Given the description of an element on the screen output the (x, y) to click on. 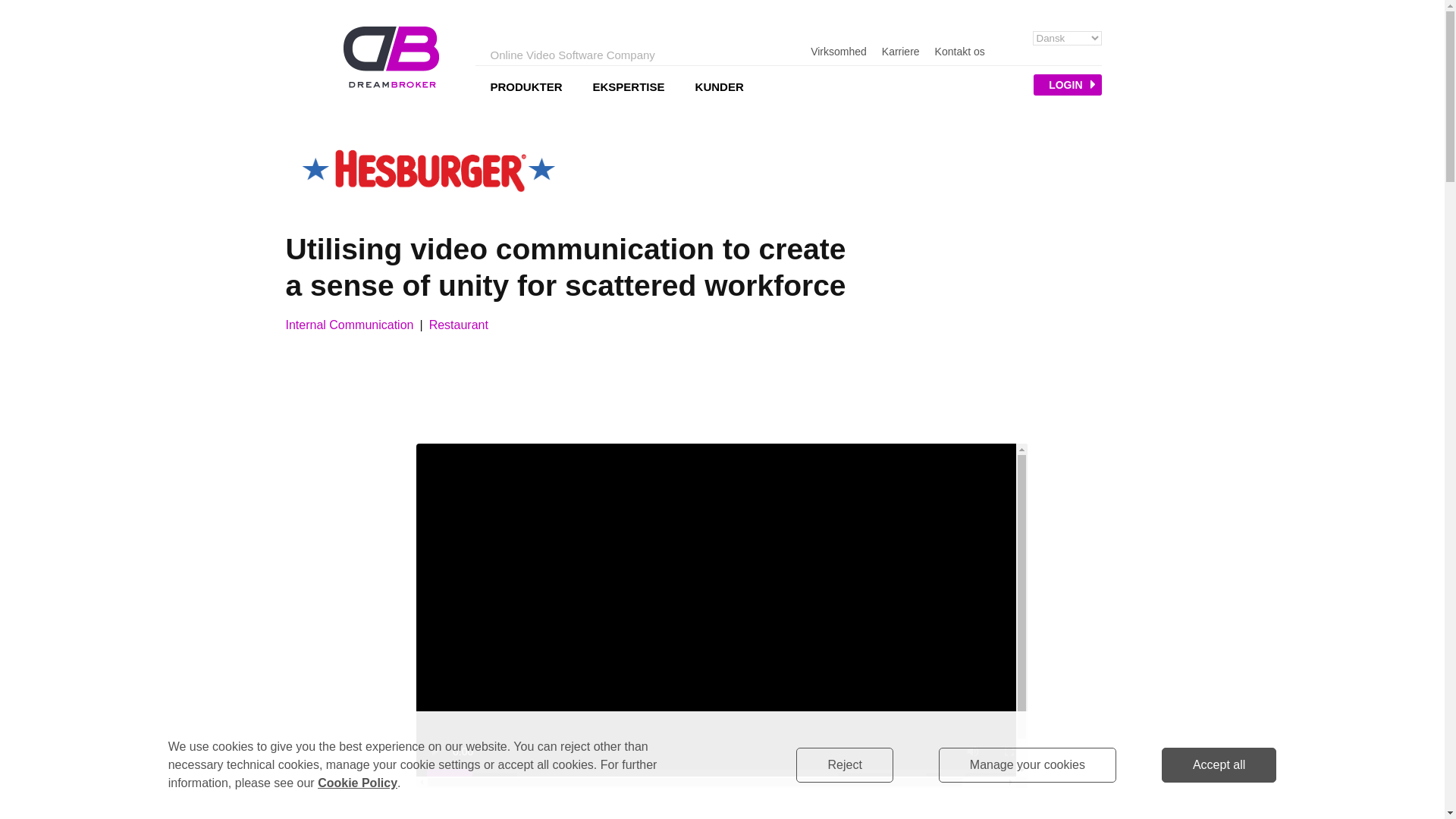
Virksomhed (839, 51)
PRODUKTER (525, 87)
Karriere (901, 51)
Dream Broker (390, 56)
Internal Communication (349, 325)
Restaurant (458, 325)
LOGIN (1066, 84)
KUNDER (718, 87)
EKSPERTISE (628, 87)
Kontakt os (959, 51)
